Given the description of an element on the screen output the (x, y) to click on. 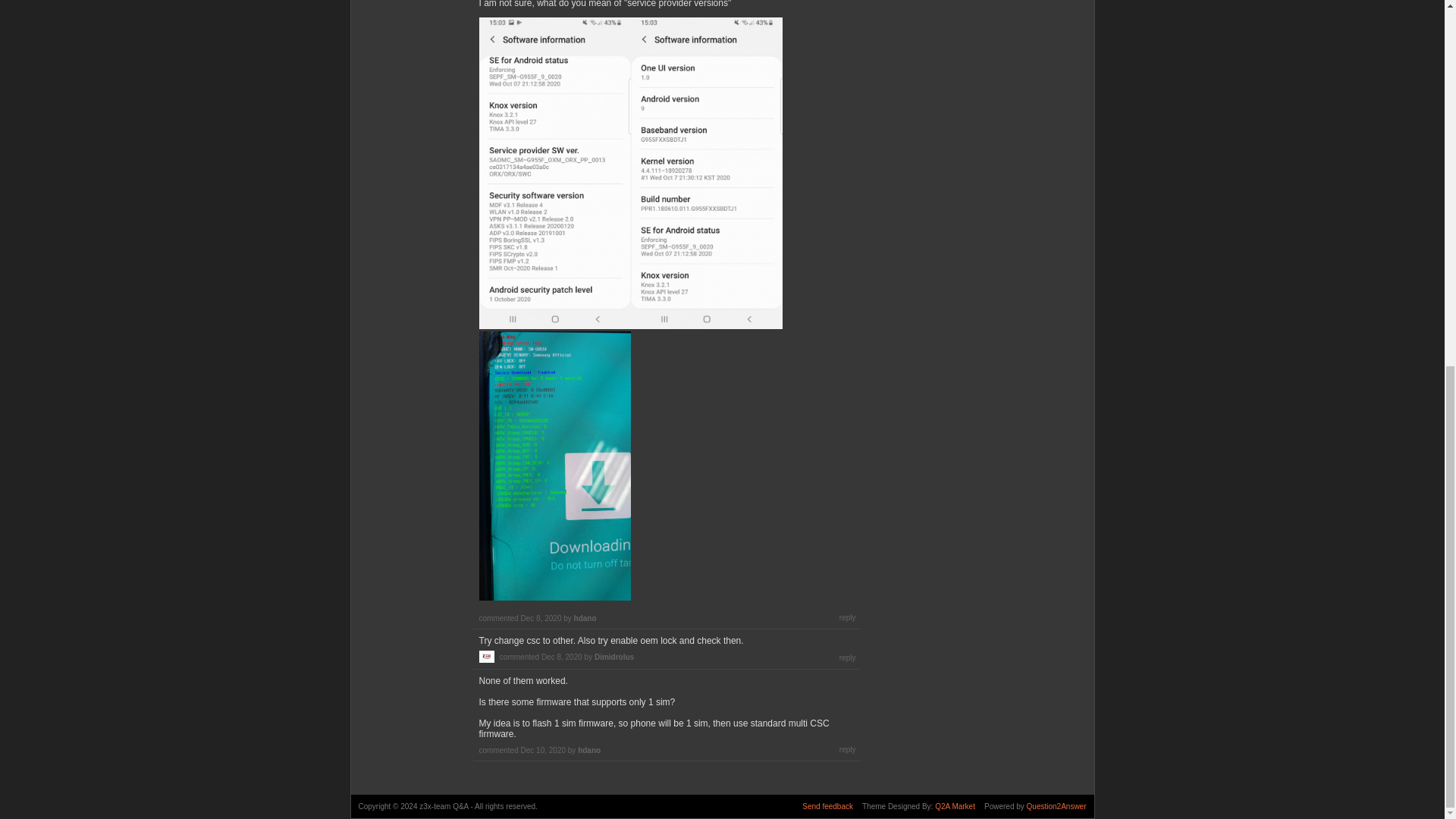
Reply to this comment (848, 617)
Reply to this comment (848, 749)
Reply to this comment (848, 657)
reply (848, 657)
reply (848, 617)
reply (848, 749)
